Given the description of an element on the screen output the (x, y) to click on. 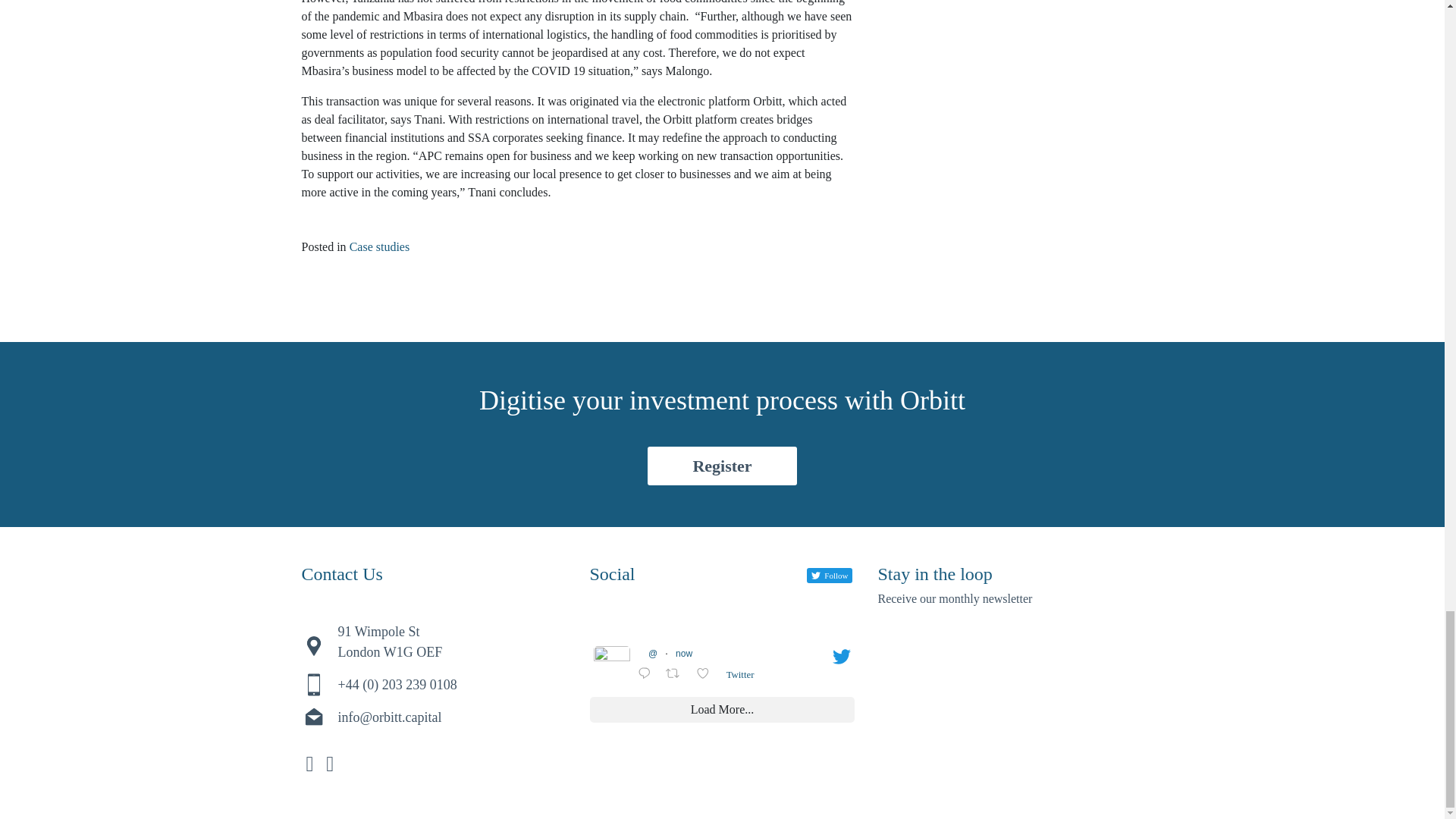
Case studies (379, 246)
